Given the description of an element on the screen output the (x, y) to click on. 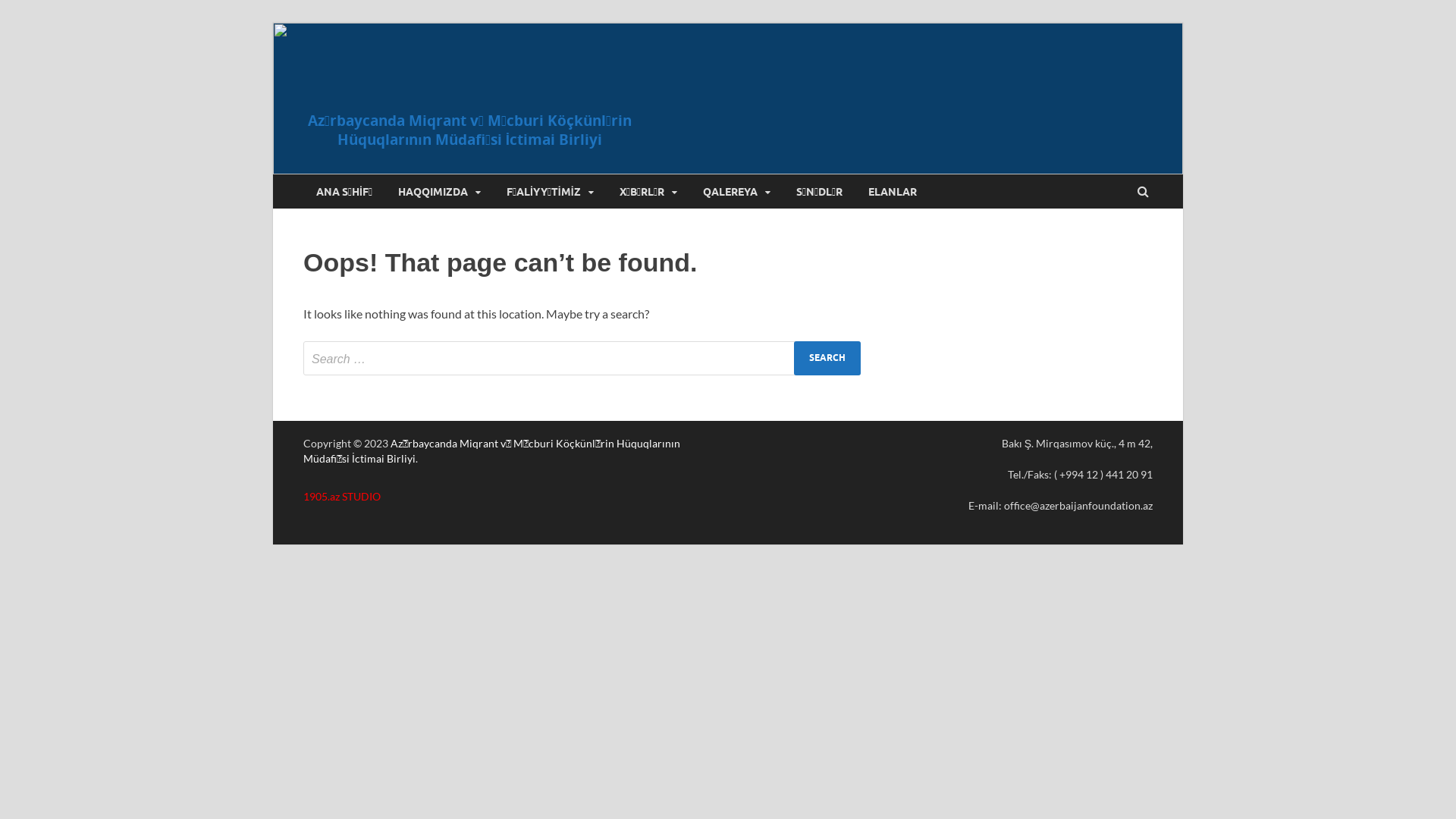
ELANLAR Element type: text (892, 191)
HAQQIMIZDA Element type: text (439, 191)
QALEREYA Element type: text (736, 191)
Search Element type: text (826, 358)
